Given the description of an element on the screen output the (x, y) to click on. 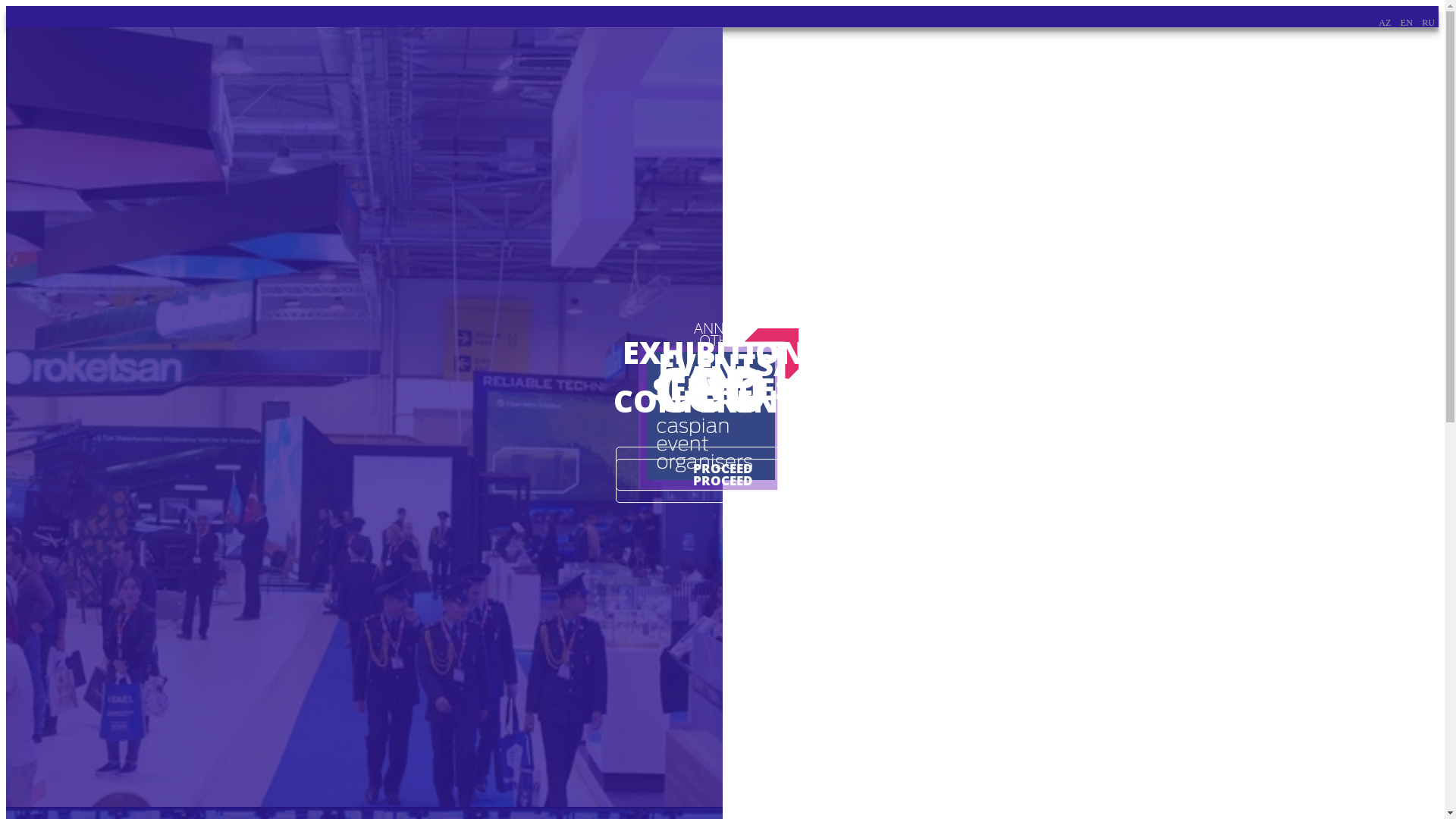
ANNUAL
EXHIBITIONS
AND
CONFERENCES
PROCEED Element type: text (364, 416)
AZ Element type: text (1384, 22)
EN Element type: text (1406, 22)
PROCEED Element type: text (721, 480)
RU Element type: text (1427, 22)
PROCEED Element type: text (721, 468)
